Given the description of an element on the screen output the (x, y) to click on. 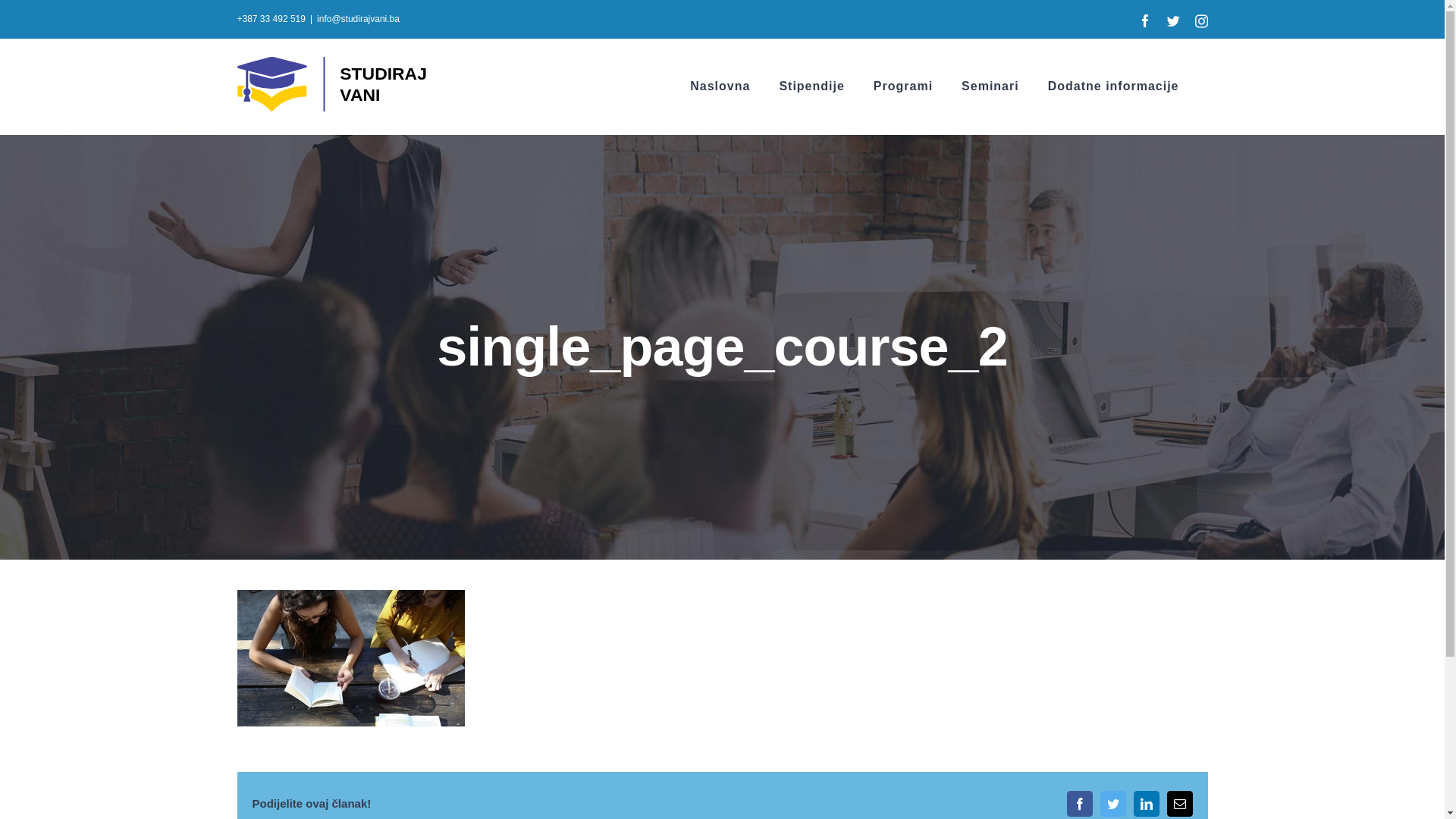
Facebook Element type: text (1145, 20)
info@studirajvani.ba Element type: text (357, 18)
Email Element type: text (1179, 803)
Instagram Element type: text (1201, 20)
Twitter Element type: text (1112, 803)
Seminari Element type: text (990, 86)
Dodatne informacije Element type: text (1113, 86)
Twitter Element type: text (1172, 20)
LinkedIn Element type: text (1145, 803)
Naslovna Element type: text (719, 86)
Programi Element type: text (902, 86)
Stipendije Element type: text (811, 86)
Facebook Element type: text (1079, 803)
